Given the description of an element on the screen output the (x, y) to click on. 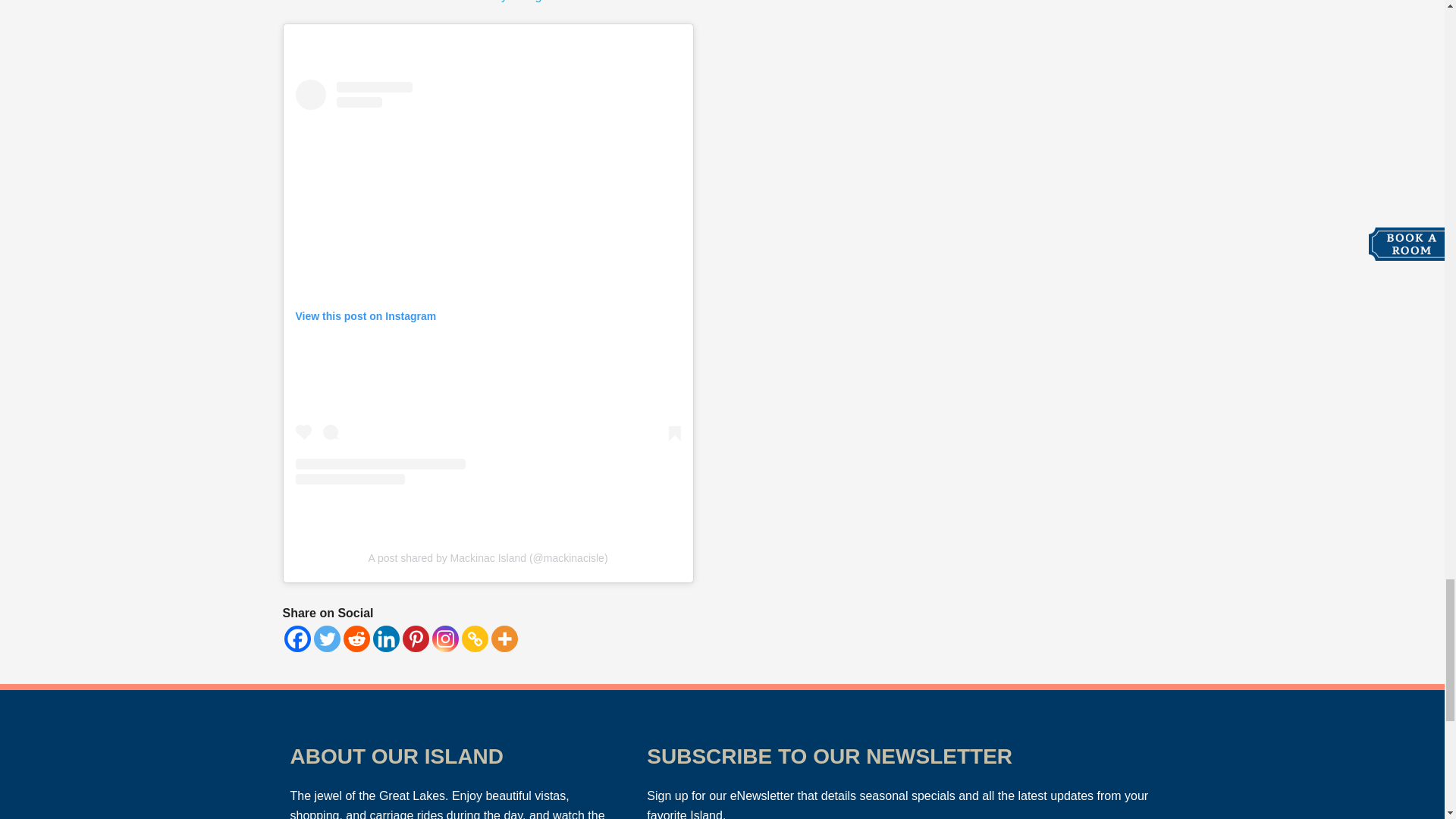
Reddit (355, 638)
Copy Link (474, 638)
Pinterest (414, 638)
Twitter (327, 638)
Facebook (296, 638)
More (505, 638)
Instagram (445, 638)
Linkedin (385, 638)
